Given the description of an element on the screen output the (x, y) to click on. 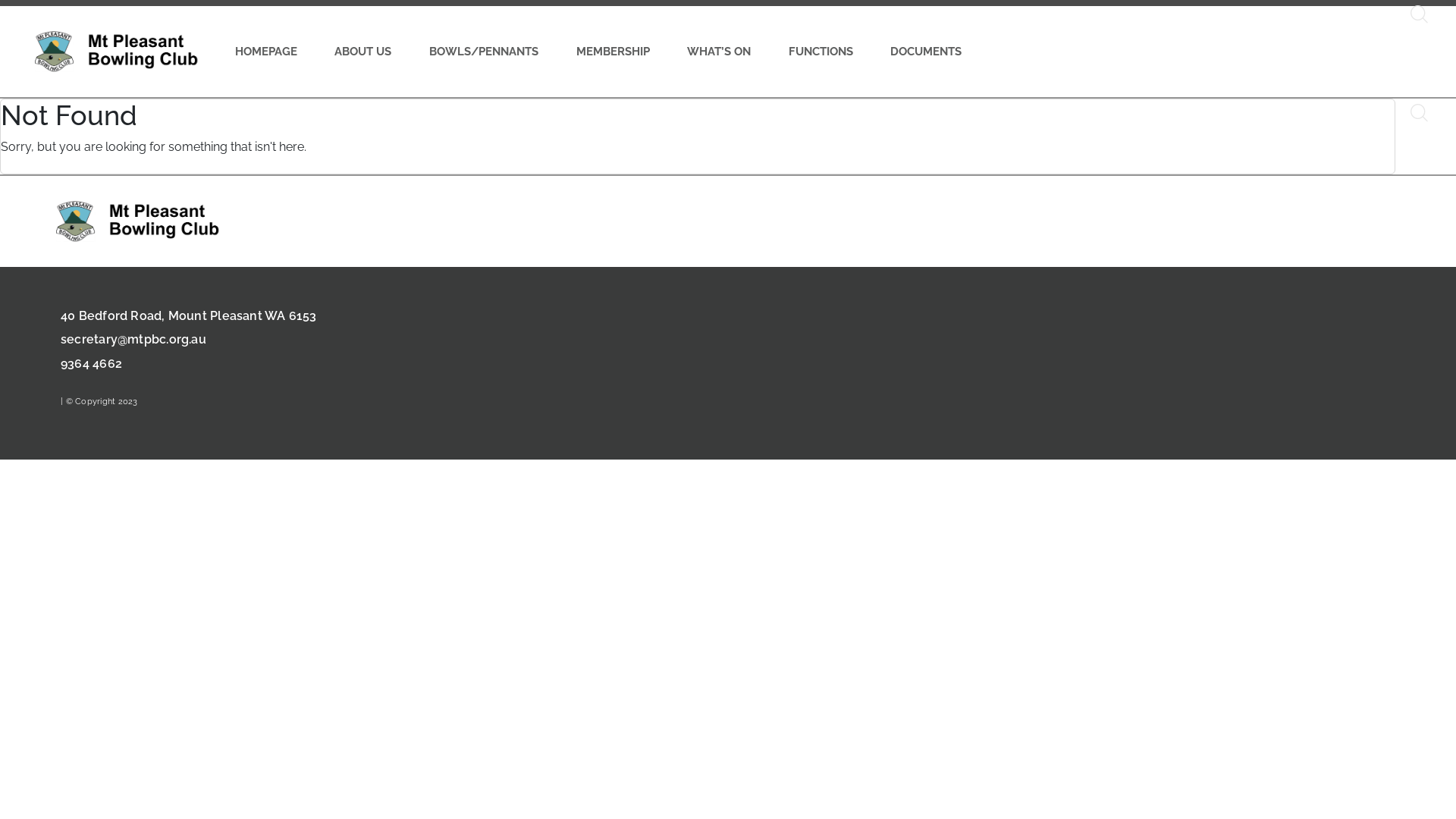
DOCUMENTS Element type: text (926, 51)
FUNCTIONS Element type: text (820, 51)
HOMEPAGE Element type: text (266, 51)
ABOUT US Element type: text (363, 51)
secretary@mtpbc.org.au Element type: text (133, 339)
BOWLS/PENNANTS Element type: text (483, 51)
9364 4662 Element type: text (91, 363)
MEMBERSHIP Element type: text (612, 51)
